Given the description of an element on the screen output the (x, y) to click on. 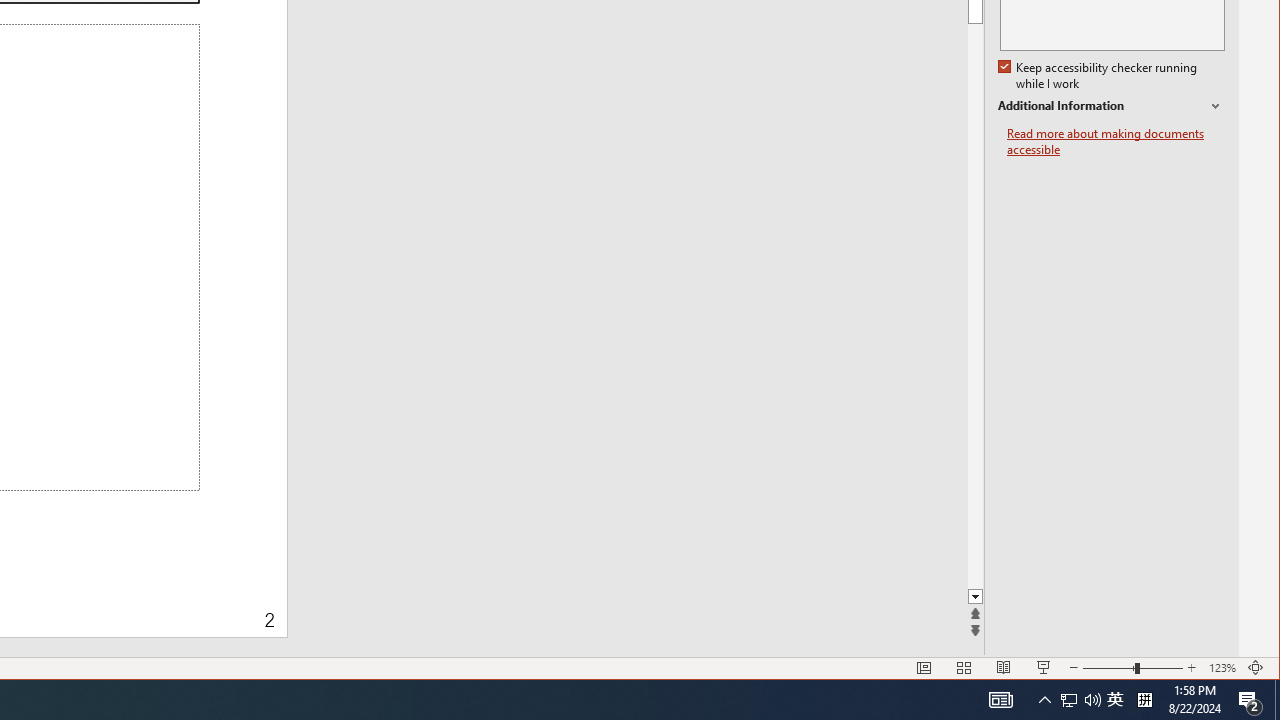
Zoom 123% (1222, 668)
